Given the description of an element on the screen output the (x, y) to click on. 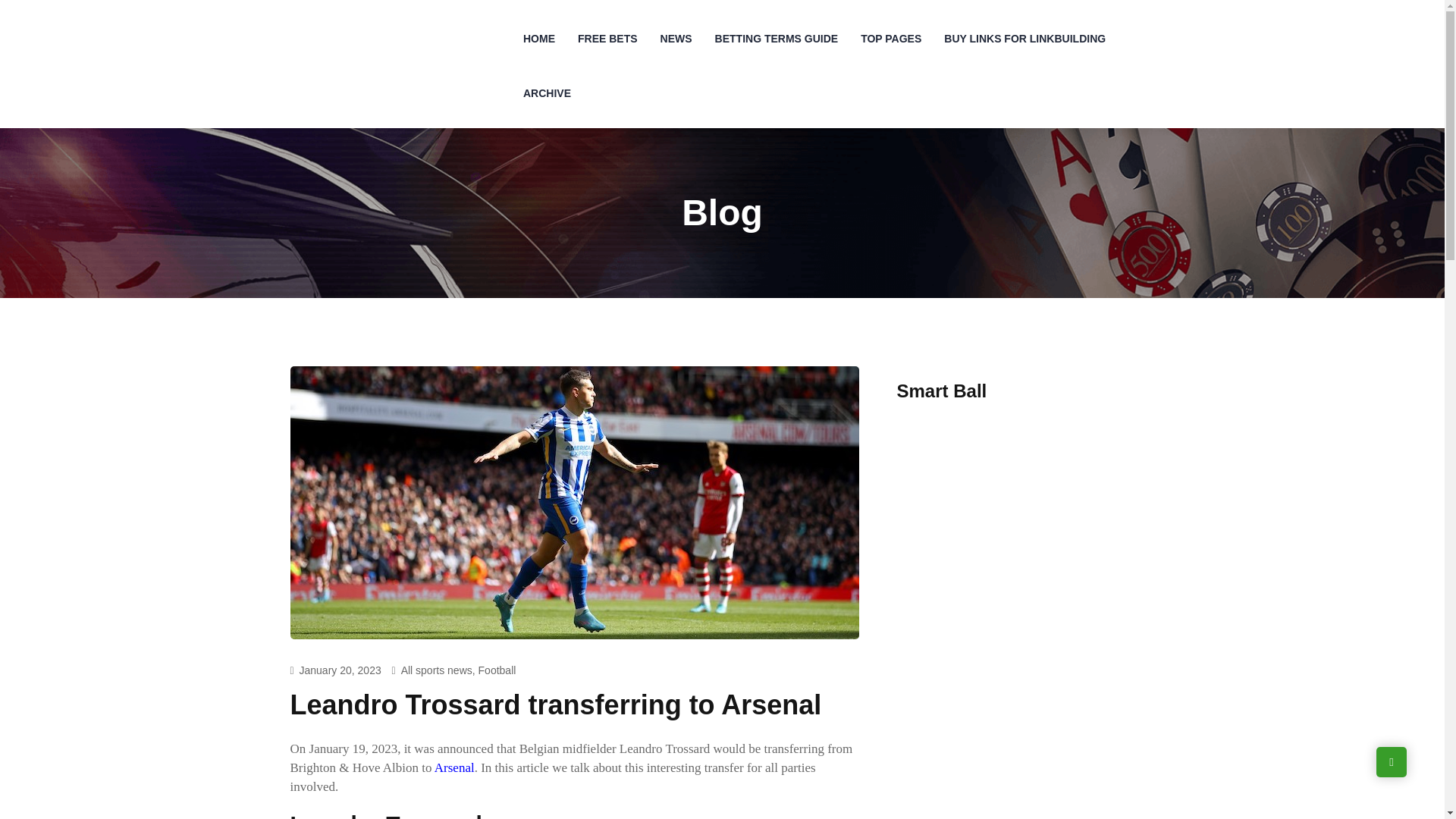
HOME (539, 38)
ARCHIVE (547, 93)
NEWS (676, 38)
Arsenal (453, 767)
BUY LINKS FOR LINKBUILDING (1024, 38)
BETTING TERMS GUIDE (776, 38)
All sports news (436, 670)
TOP PAGES (890, 38)
FREE BETS (607, 38)
Football (497, 670)
